Given the description of an element on the screen output the (x, y) to click on. 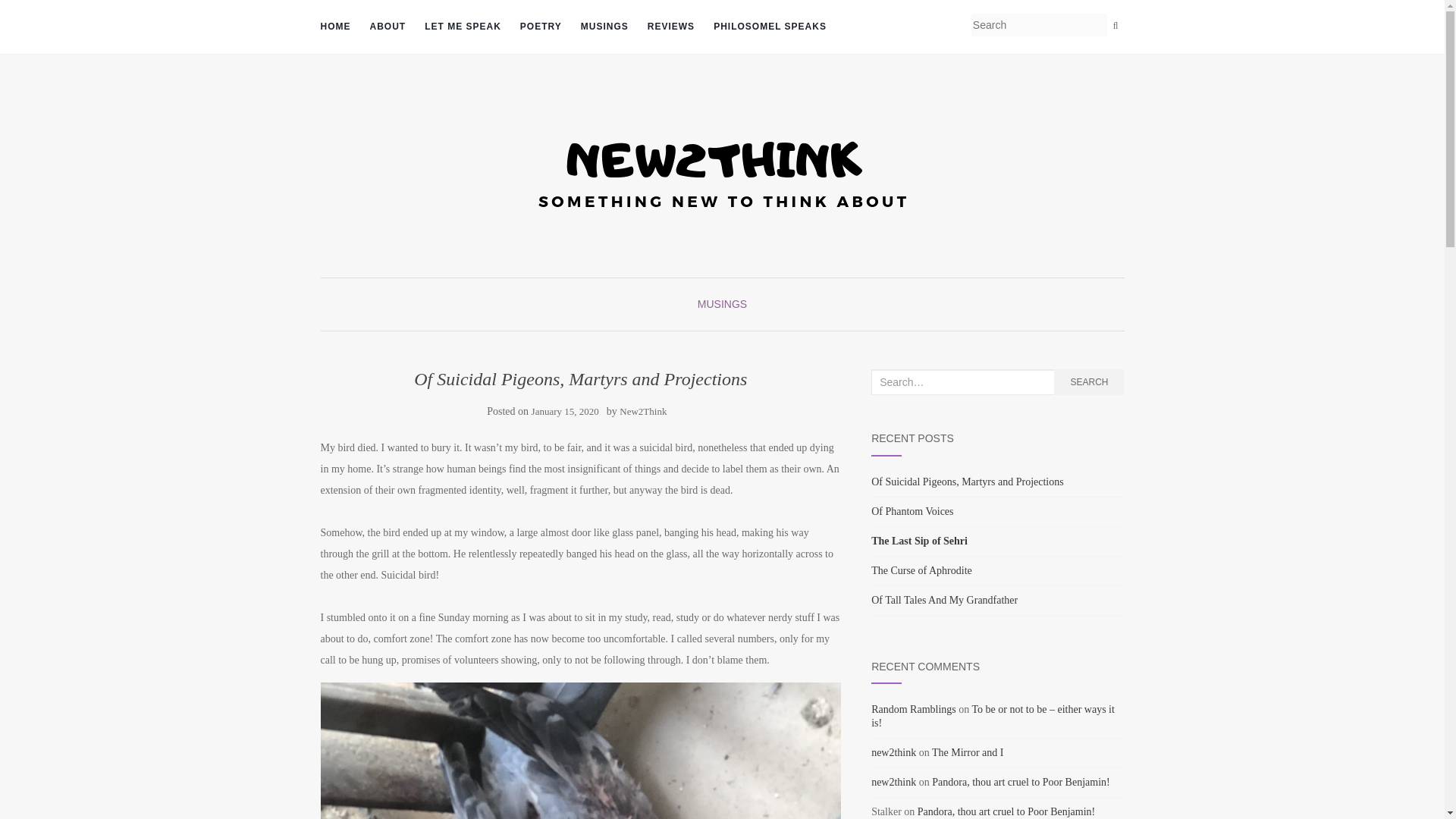
Pandora, thou art cruel to Poor Benjamin! (1005, 811)
The Last Sip of Sehri (919, 541)
LET ME SPEAK (462, 27)
Of Phantom Voices (911, 511)
PHILOSOMEL SPEAKS (770, 27)
Of Tall Tales And My Grandfather (943, 600)
Pandora, thou art cruel to Poor Benjamin! (1020, 781)
The Curse of Aphrodite (921, 570)
new2think (892, 781)
new2think (892, 752)
MUSINGS (721, 304)
Random Ramblings (913, 708)
Search for: (962, 381)
New2Think (643, 410)
January 15, 2020 (564, 410)
